Given the description of an element on the screen output the (x, y) to click on. 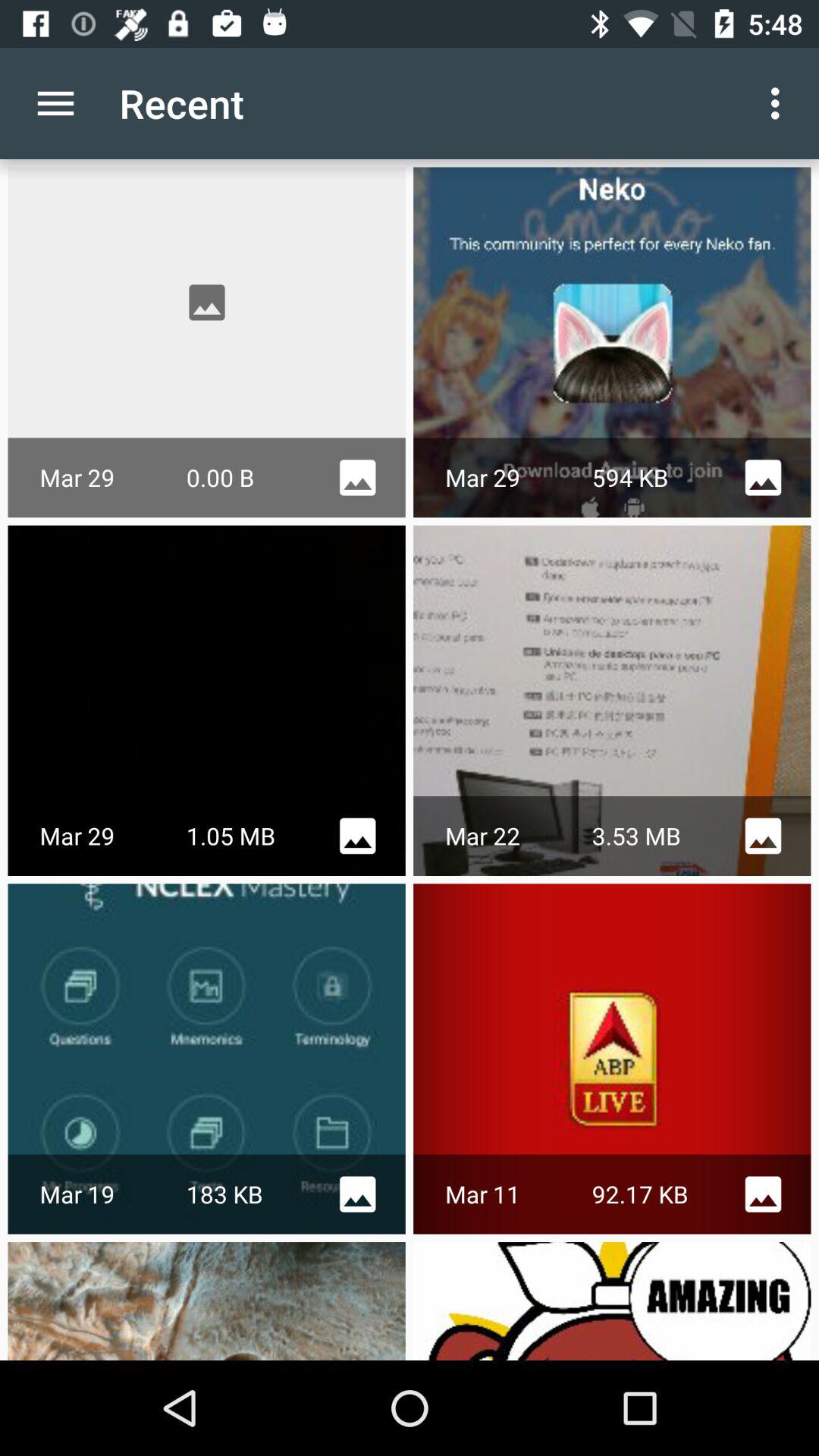
select the seventh box (206, 1300)
click on fifth box from the top (206, 1058)
select on the option which is beside 105mb (357, 836)
choose the right corner image with text amazing from bottom (612, 1300)
click on the option button which is right hand side of the text recent (779, 103)
